Given the description of an element on the screen output the (x, y) to click on. 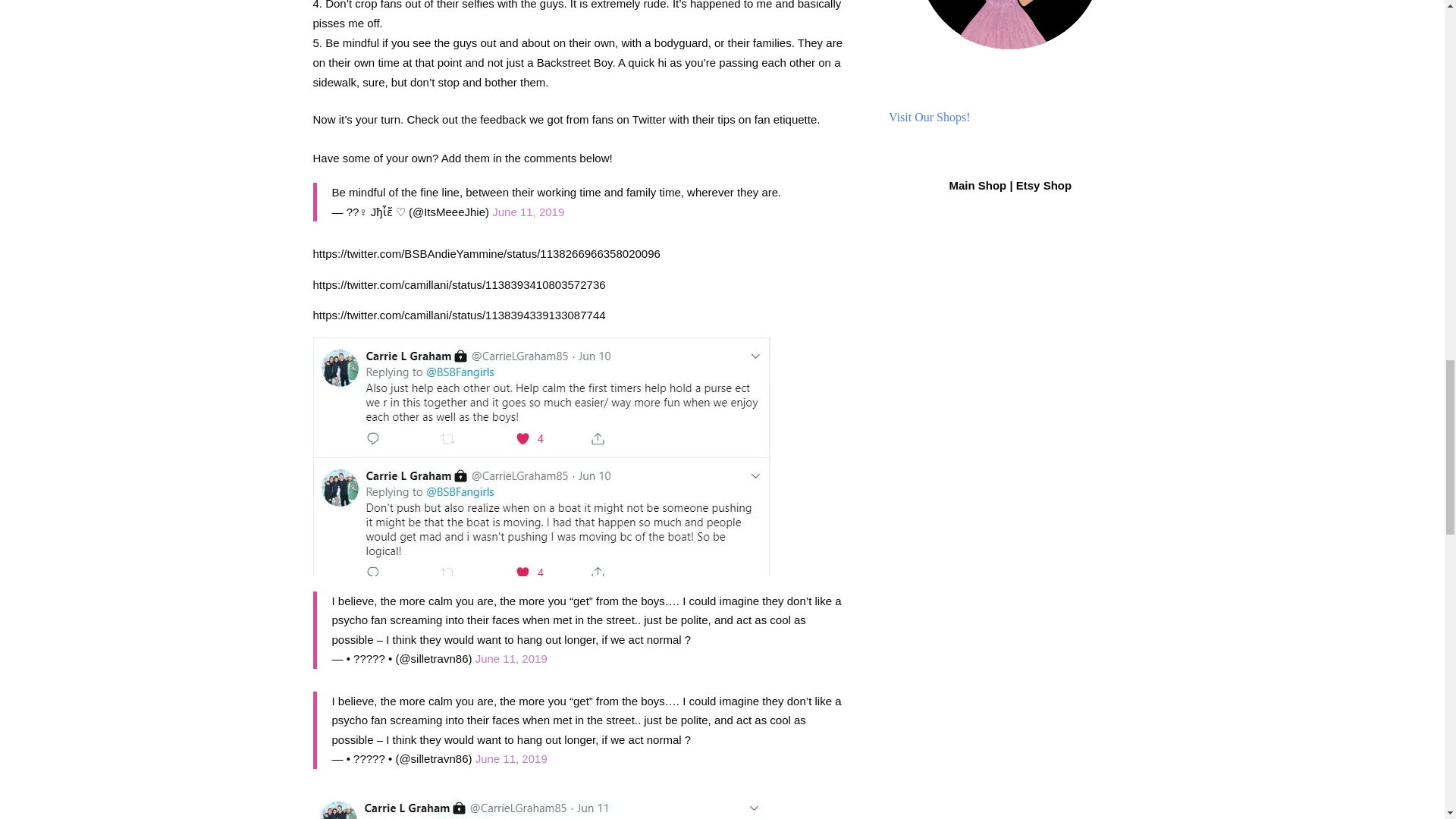
June 11, 2019 (511, 658)
June 11, 2019 (511, 758)
June 11, 2019 (528, 211)
